Given the description of an element on the screen output the (x, y) to click on. 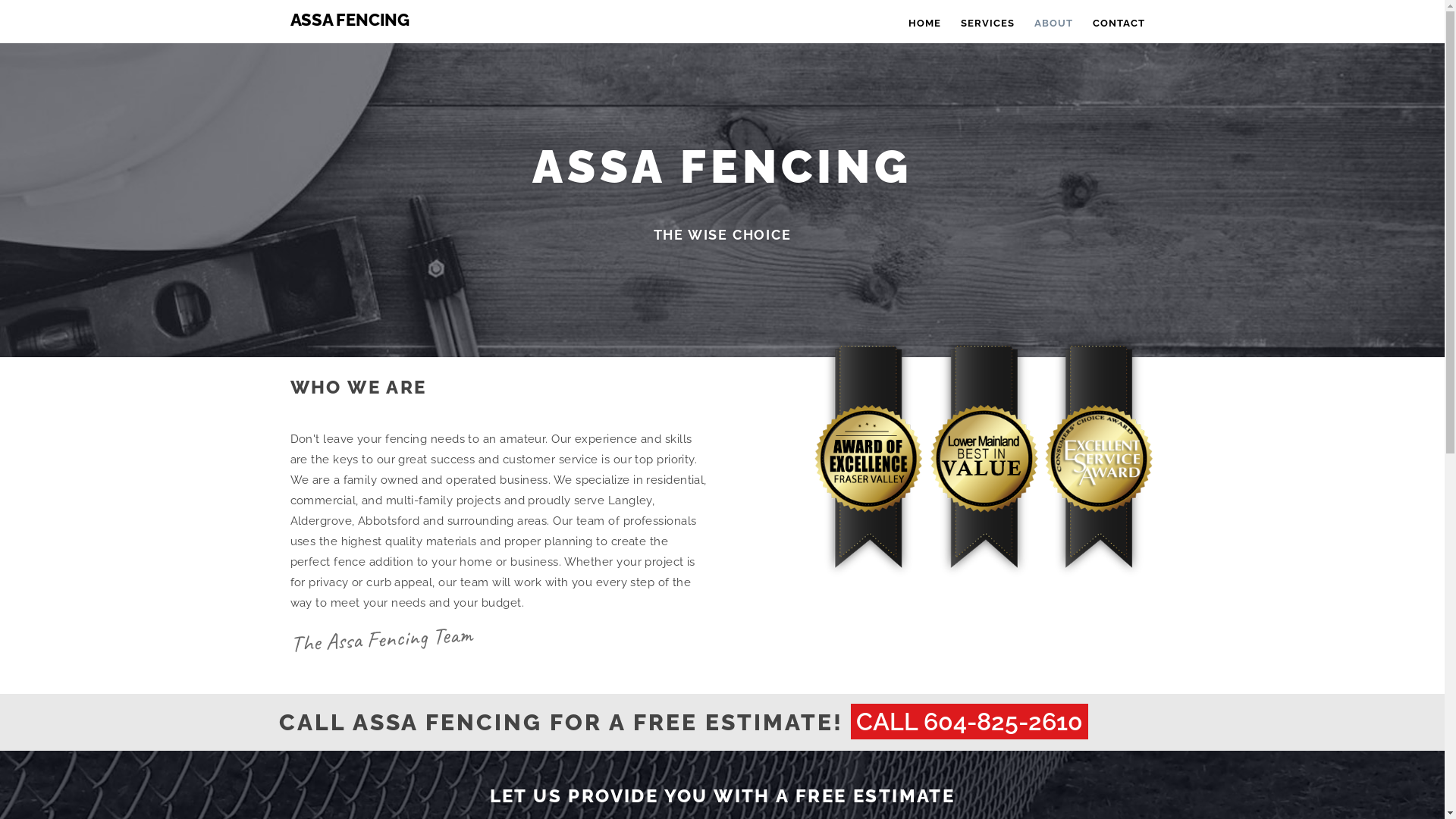
CONTACT Element type: text (1118, 21)
SERVICES Element type: text (987, 21)
HOME Element type: text (923, 21)
ASSA FENCING Element type: text (346, 18)
ABOUT Element type: text (1052, 21)
